Given the description of an element on the screen output the (x, y) to click on. 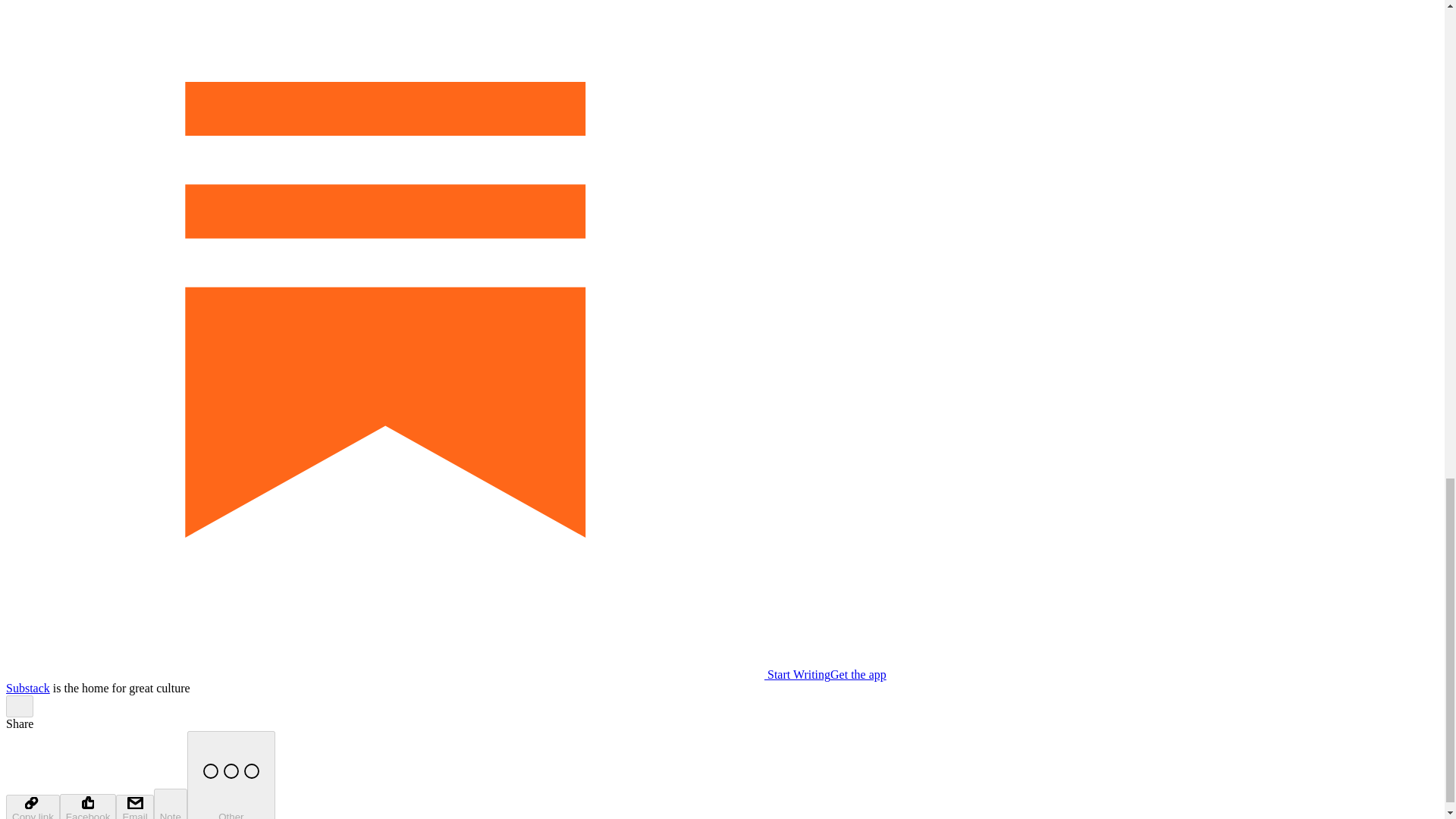
Substack (27, 687)
Get the app (857, 674)
Start Writing (417, 674)
